Given the description of an element on the screen output the (x, y) to click on. 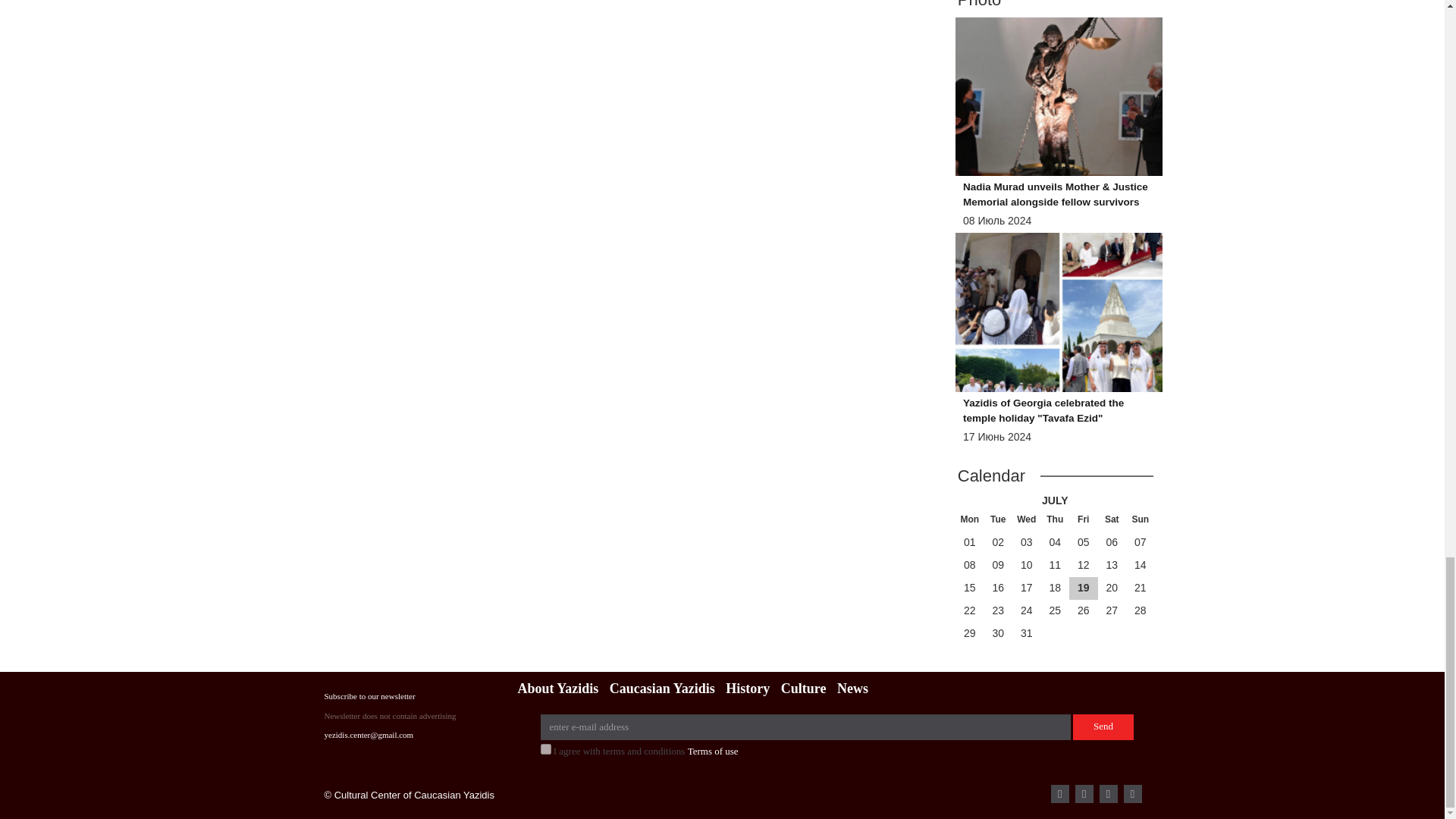
Send (1103, 727)
1 (545, 748)
